Given the description of an element on the screen output the (x, y) to click on. 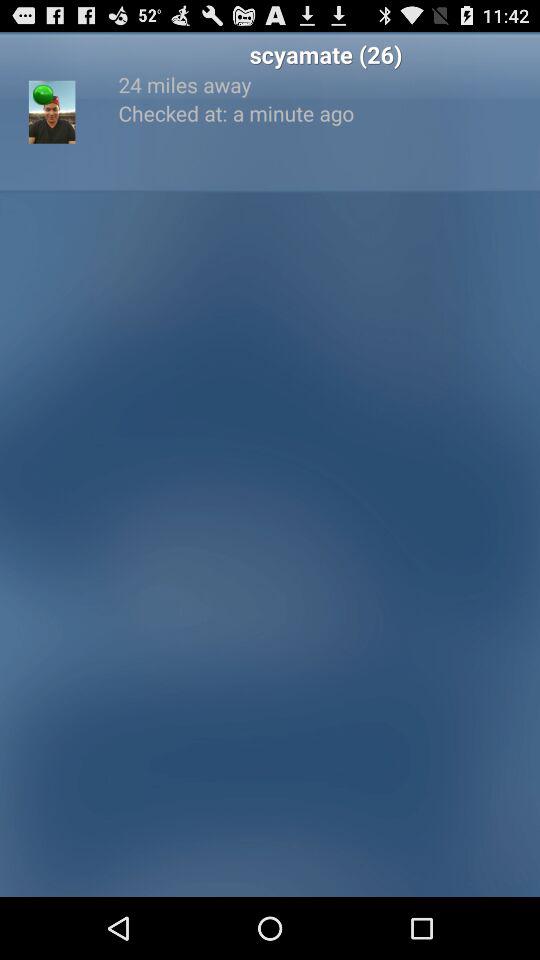
open the 24 miles away (325, 84)
